Given the description of an element on the screen output the (x, y) to click on. 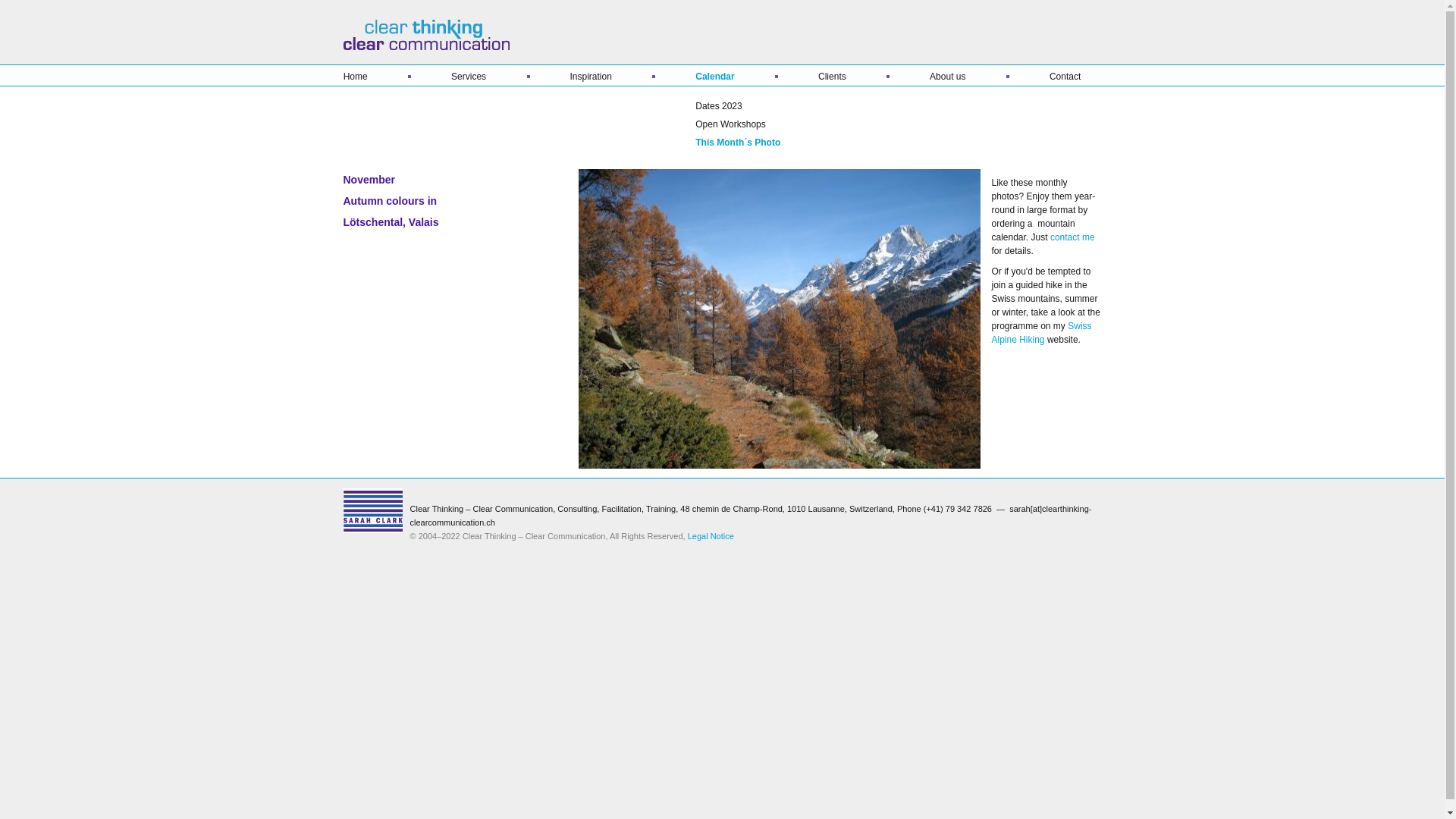
Legal Notice Element type: text (710, 535)
contact me Element type: text (1072, 237)
Inspiration Element type: text (592, 76)
Open Workshops Element type: text (752, 124)
Dates 2023 Element type: text (752, 106)
Swiss Alpine Hiking Element type: text (1041, 332)
Calendar Element type: text (716, 76)
Services Element type: text (470, 76)
Clients Element type: text (833, 76)
About us Element type: text (949, 76)
Contact Element type: text (1044, 76)
Home Element type: text (377, 76)
